Given the description of an element on the screen output the (x, y) to click on. 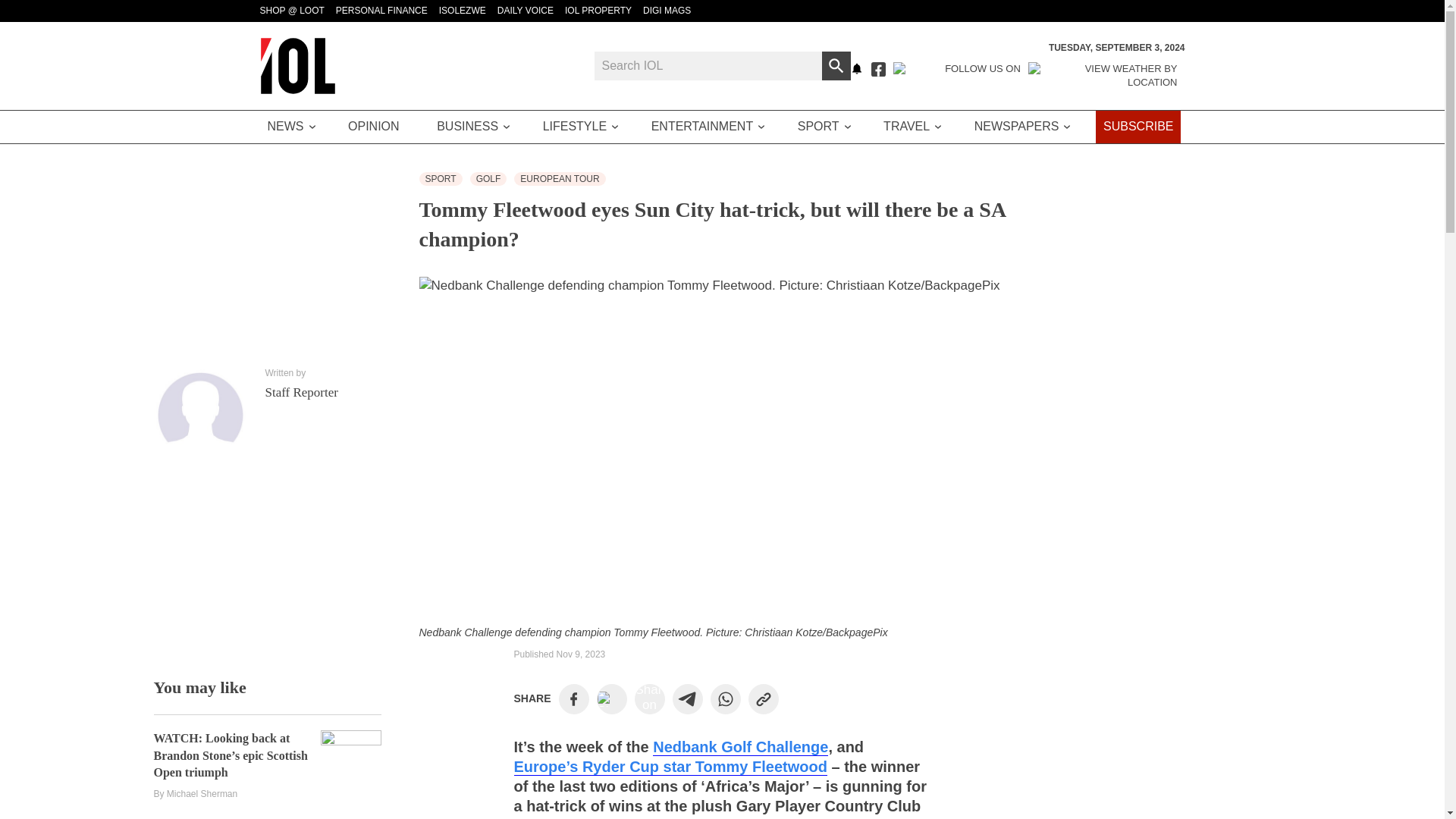
Share on WhatsApp (725, 698)
Share on Twitter (611, 698)
Share on Facebook (573, 698)
Follow us on Twitter (956, 75)
Share on Telegram (686, 698)
Copy to Clipboard (763, 698)
